Given the description of an element on the screen output the (x, y) to click on. 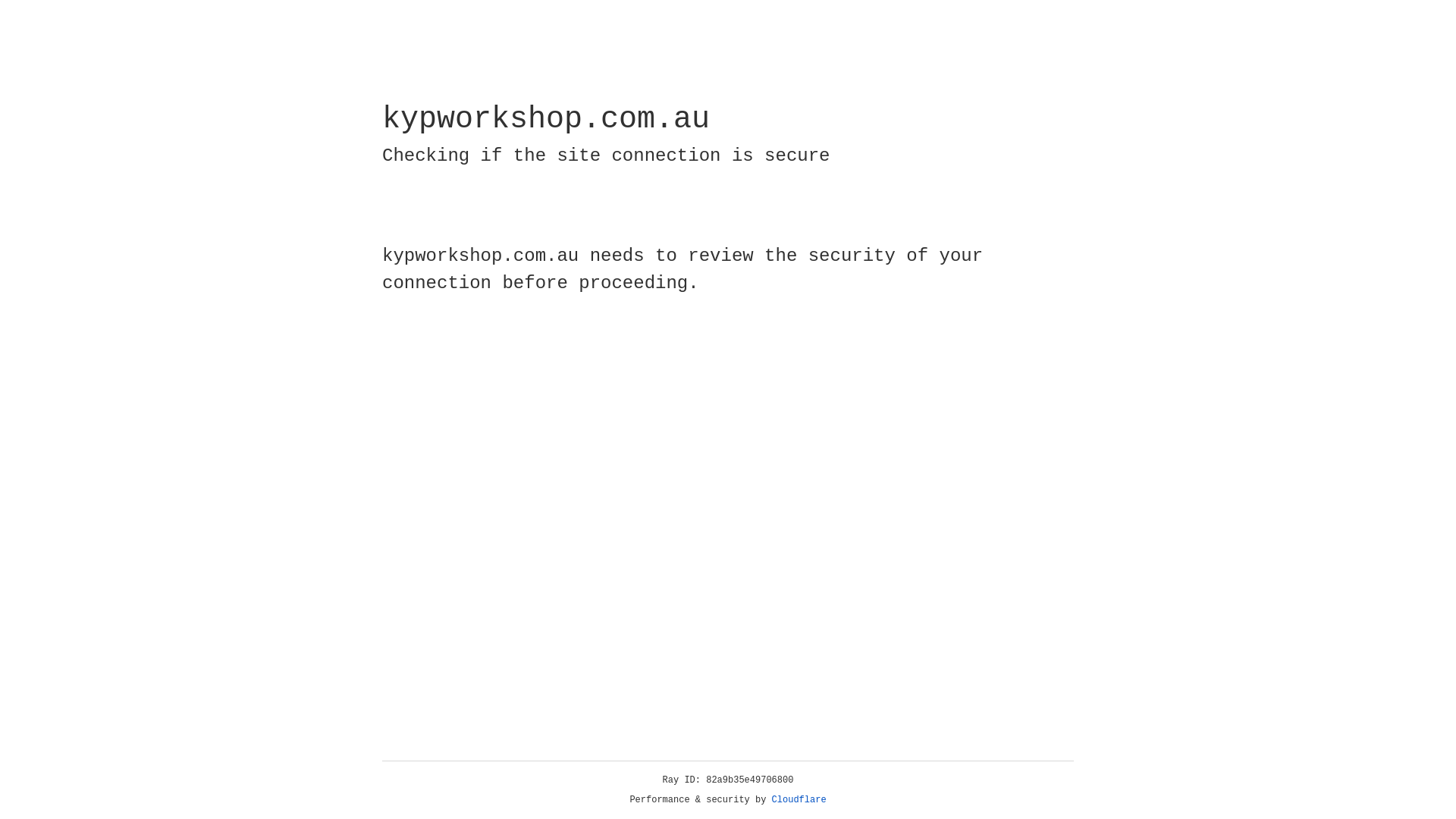
Cloudflare Element type: text (798, 799)
